Given the description of an element on the screen output the (x, y) to click on. 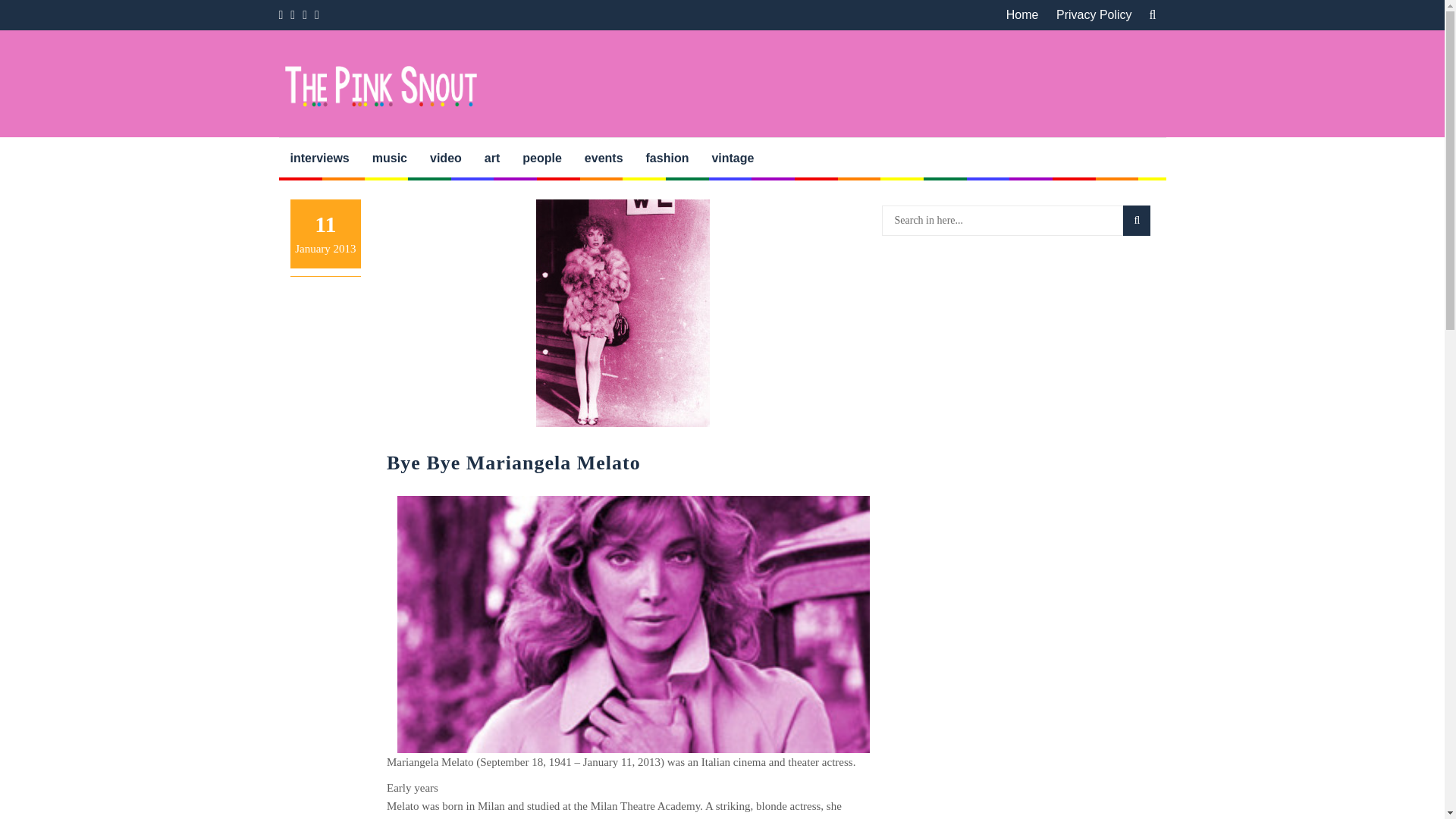
events (603, 158)
vintage (732, 158)
video (446, 158)
Search for: (1001, 220)
Privacy Policy (1094, 15)
Home (1022, 15)
Search (1136, 220)
music (390, 158)
